Given the description of an element on the screen output the (x, y) to click on. 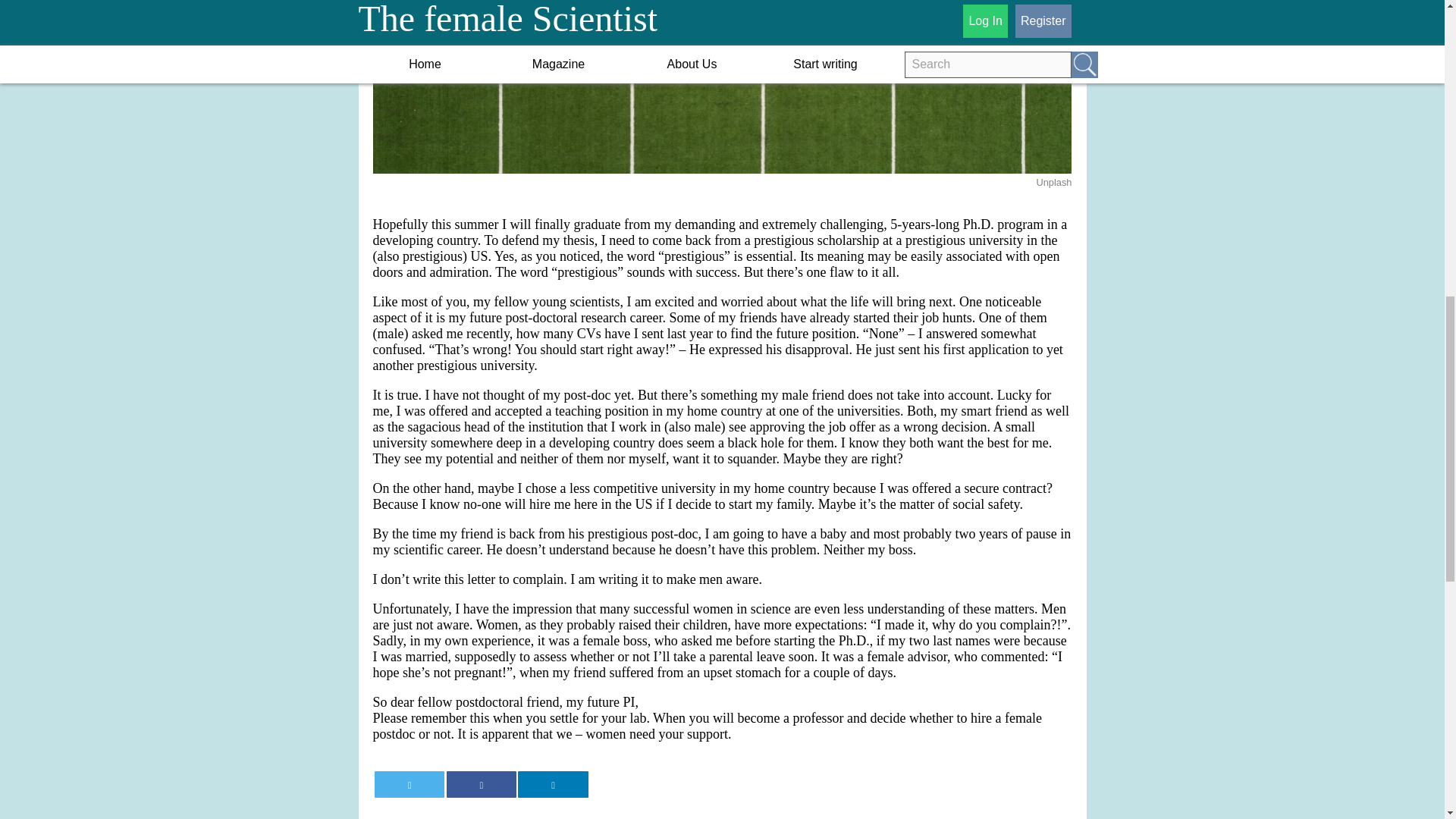
Share on Facebook (481, 784)
Tweet on Twitter (409, 784)
Share on Linkedin (553, 784)
